Given the description of an element on the screen output the (x, y) to click on. 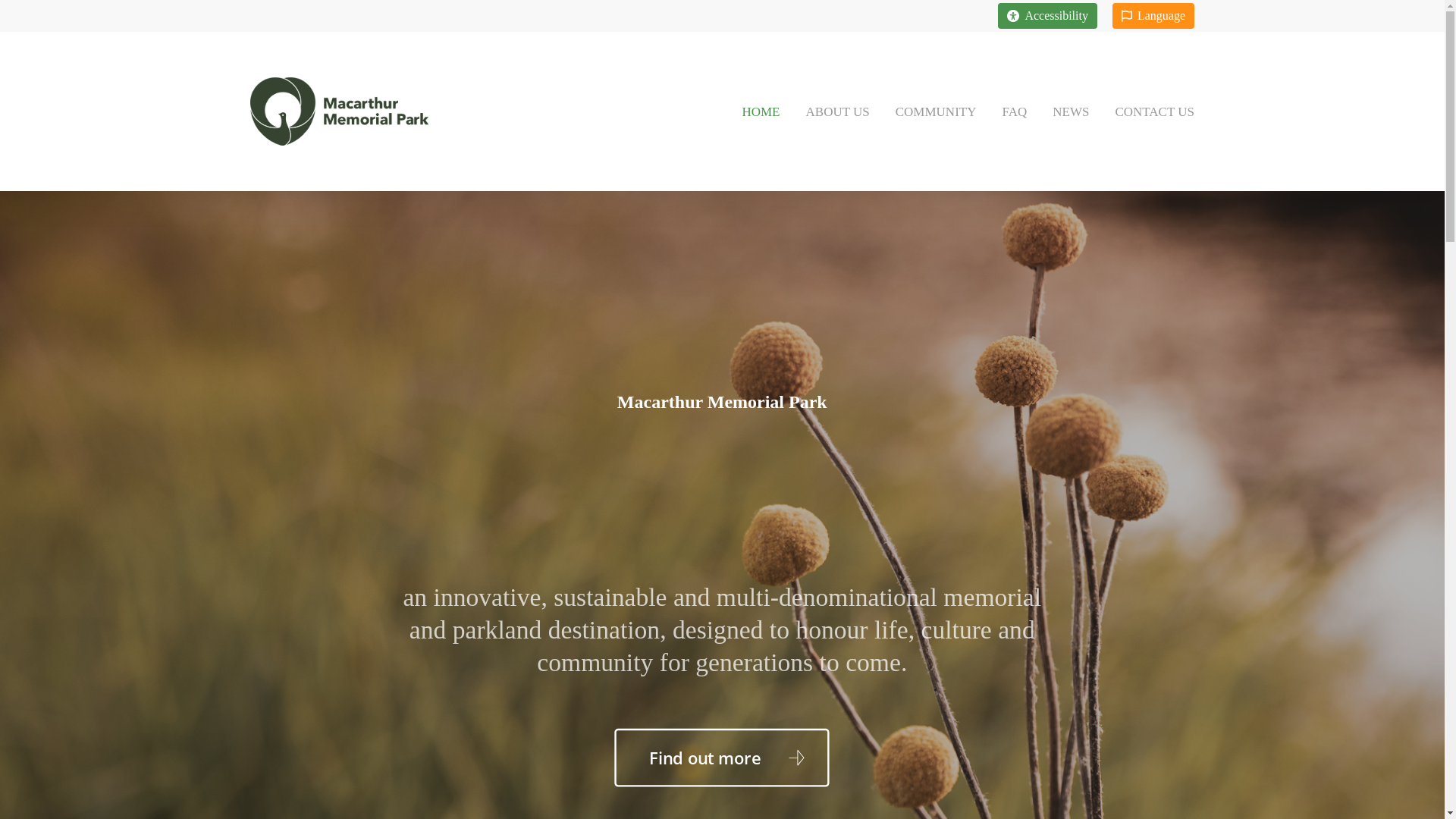
Find out more Element type: text (704, 752)
NEWS Element type: text (1070, 110)
FAQ Element type: text (1013, 110)
Accessibility Element type: text (1047, 15)
ABOUT US Element type: text (837, 110)
HOME Element type: text (760, 110)
Language Element type: text (1153, 15)
CONTACT US Element type: text (1147, 110)
COMMUNITY Element type: text (935, 110)
